Given the description of an element on the screen output the (x, y) to click on. 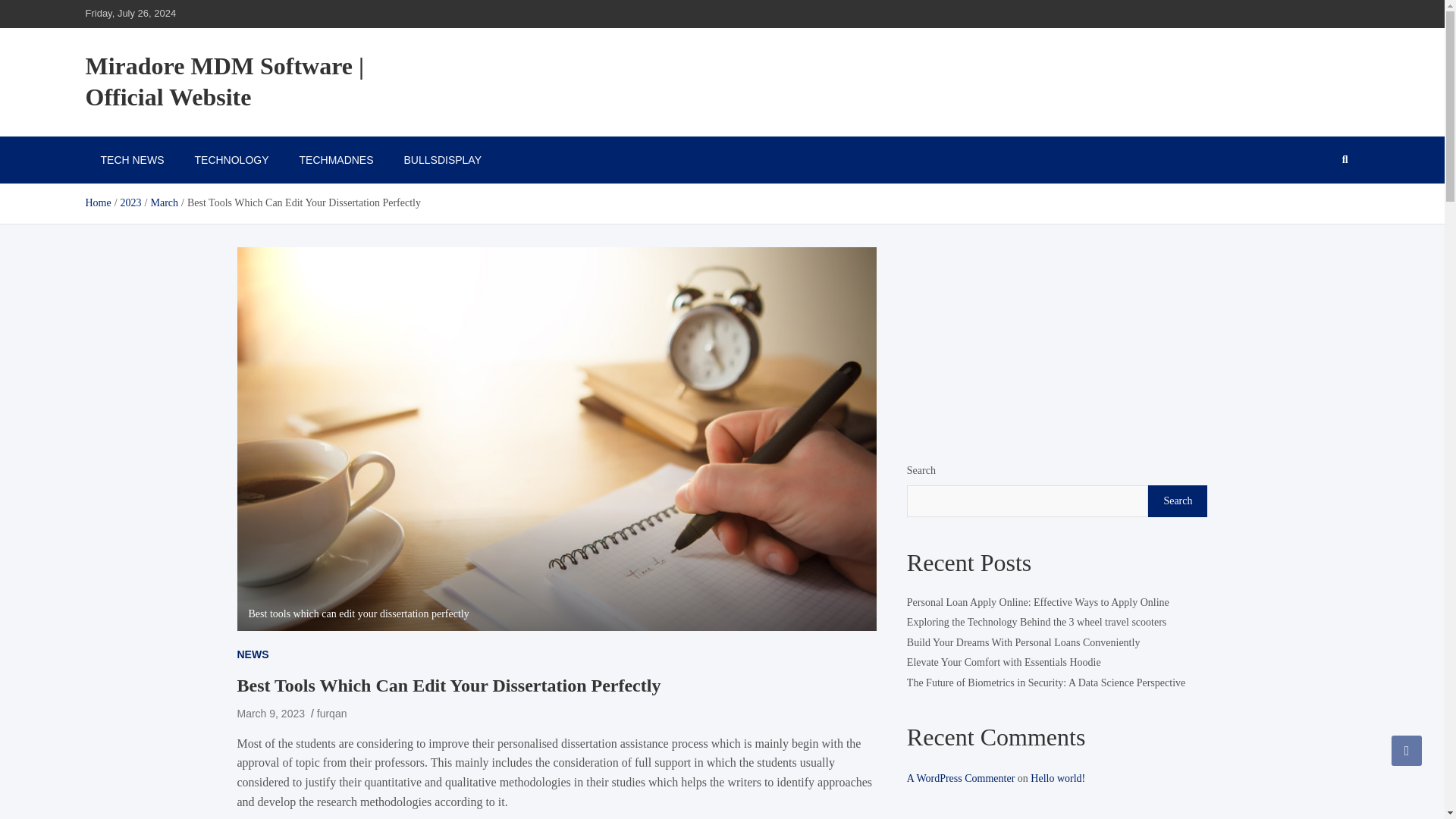
TECHMADNES (335, 159)
Personal Loan Apply Online: Effective Ways to Apply Online (1038, 602)
TECH NEWS (131, 159)
BULLSDISPLAY (442, 159)
Home (97, 202)
TECHNOLOGY (231, 159)
Hello world! (1057, 778)
Search (1177, 500)
March (163, 202)
March 9, 2023 (269, 713)
furqan (332, 713)
Go to Top (1406, 750)
A WordPress Commenter (960, 778)
Exploring the Technology Behind the 3 wheel travel scooters (1036, 622)
